Given the description of an element on the screen output the (x, y) to click on. 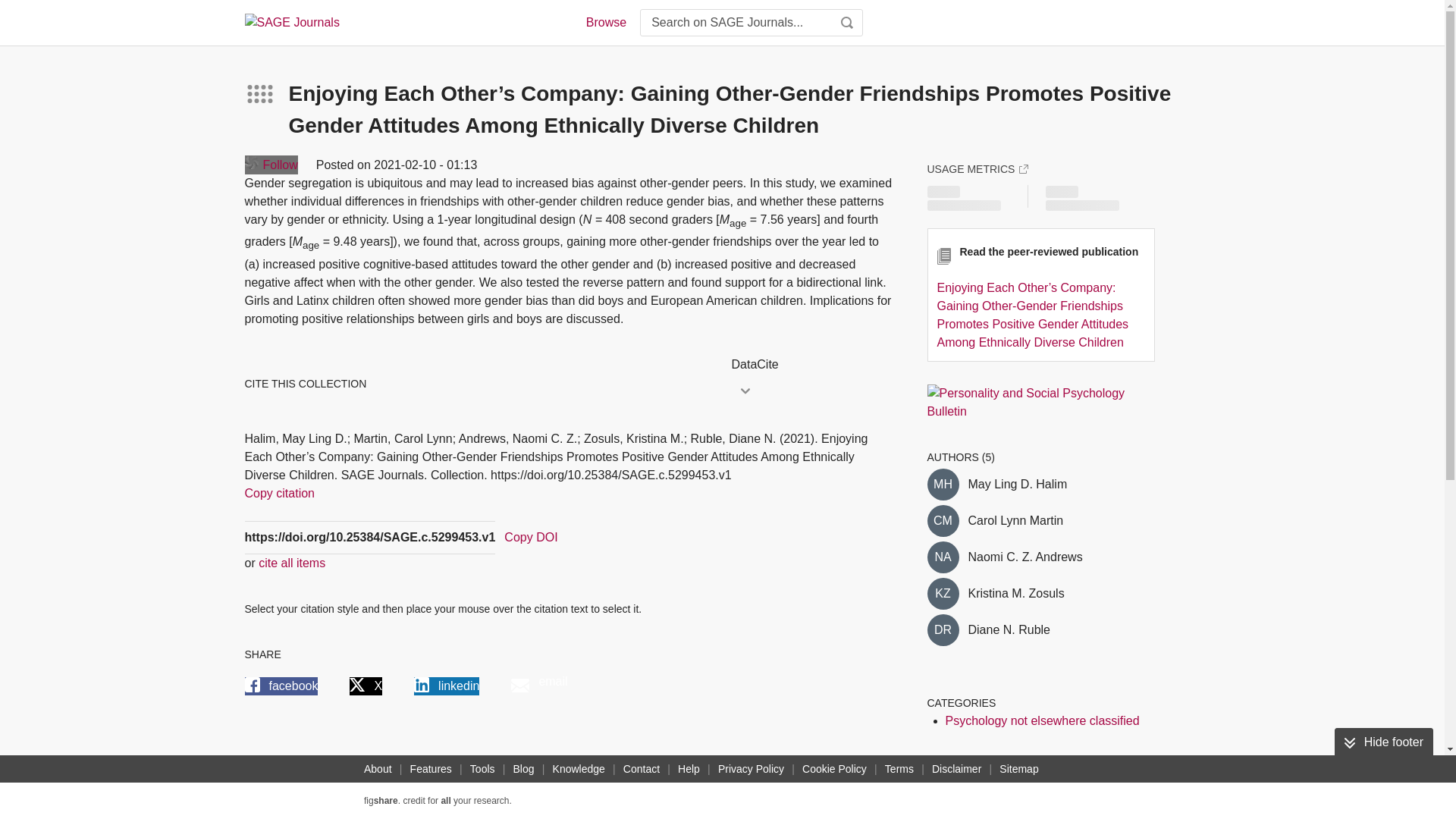
Copy DOI (530, 537)
facebook (280, 686)
email (539, 686)
Psychology not elsewhere classified (1041, 720)
linkedin (446, 686)
X (365, 686)
May Ling D. Halim (1017, 484)
Naomi C. Z. Andrews (1024, 556)
USAGE METRICS (976, 168)
Carol Lynn Martin (1015, 520)
